Given the description of an element on the screen output the (x, y) to click on. 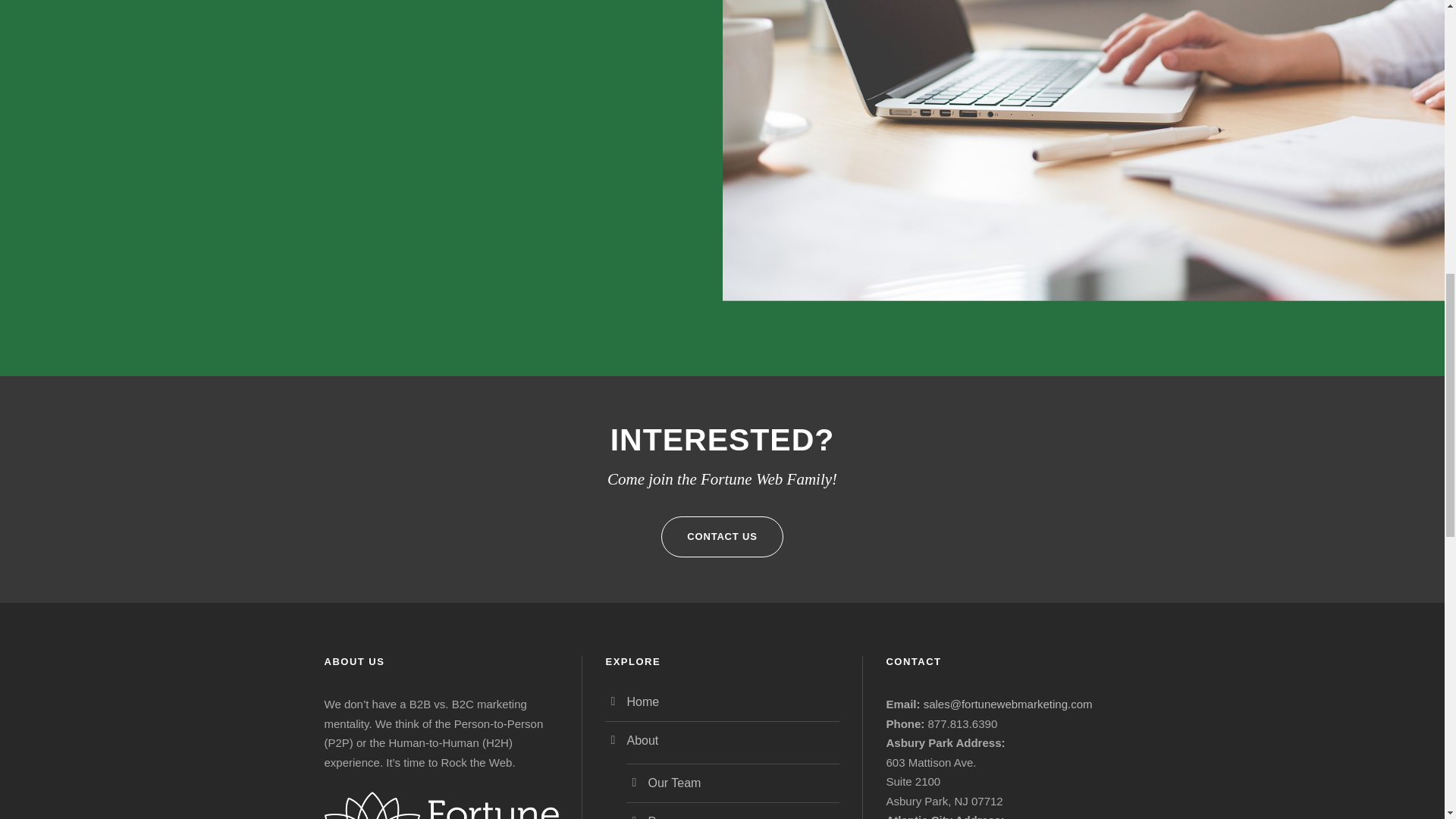
Press (662, 816)
Home (642, 701)
CONTACT US (722, 536)
About (642, 739)
Our Team (673, 782)
